Given the description of an element on the screen output the (x, y) to click on. 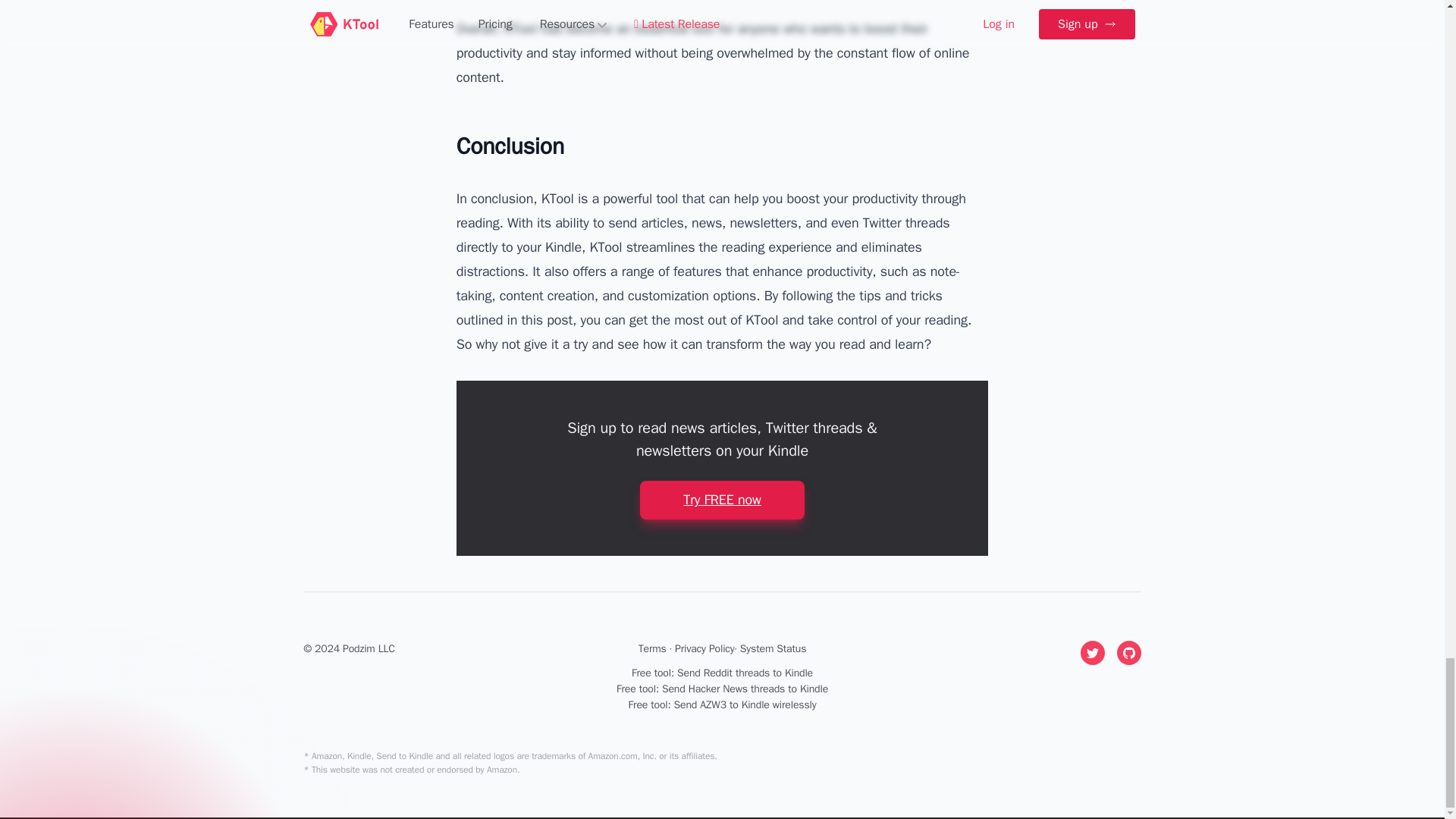
KTool Privacy Policy (705, 648)
Free tool: Send Reddit threads to Kindle (721, 672)
Privacy Policy (705, 648)
Try FREE now (721, 499)
KTool Terms of Service (652, 648)
KTool on Github (1128, 652)
Send Hacker News threads to Kindle (721, 688)
Send Reddit threads to Kindle (721, 672)
Free tool: Send Hacker News threads to Kindle (721, 688)
KTool on Twitter (1091, 652)
